Given the description of an element on the screen output the (x, y) to click on. 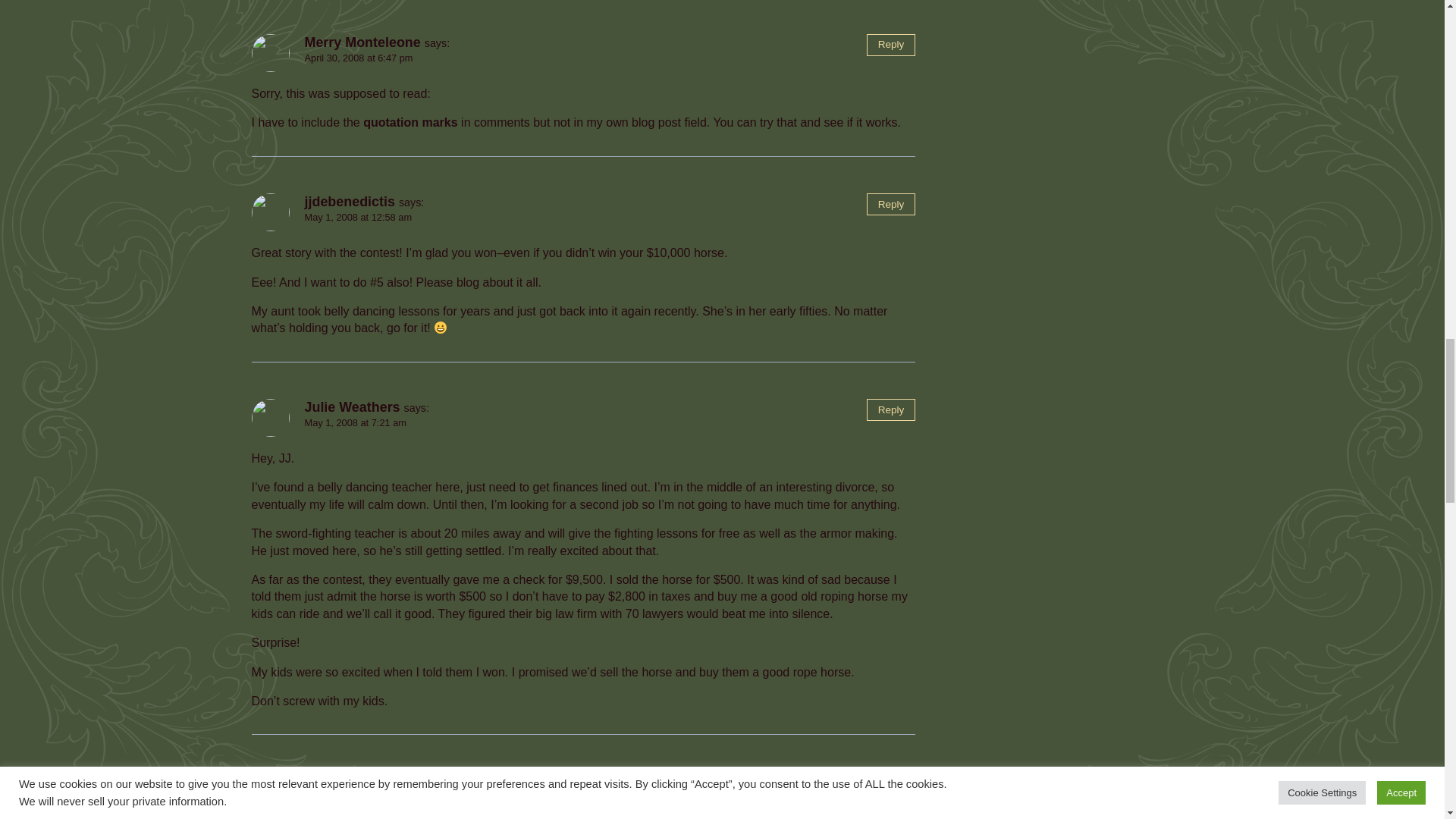
May 1, 2008 at 12:58 am (358, 216)
April 30, 2008 at 6:47 pm (358, 57)
Reply (890, 204)
May 1, 2008 at 7:27 am (355, 795)
Julie Weathers (352, 779)
May 1, 2008 at 7:21 am (355, 422)
Reply (890, 782)
Julie Weathers (352, 406)
Reply (890, 45)
jjdebenedictis (349, 201)
Merry Monteleone (362, 42)
Reply (890, 409)
